Given the description of an element on the screen output the (x, y) to click on. 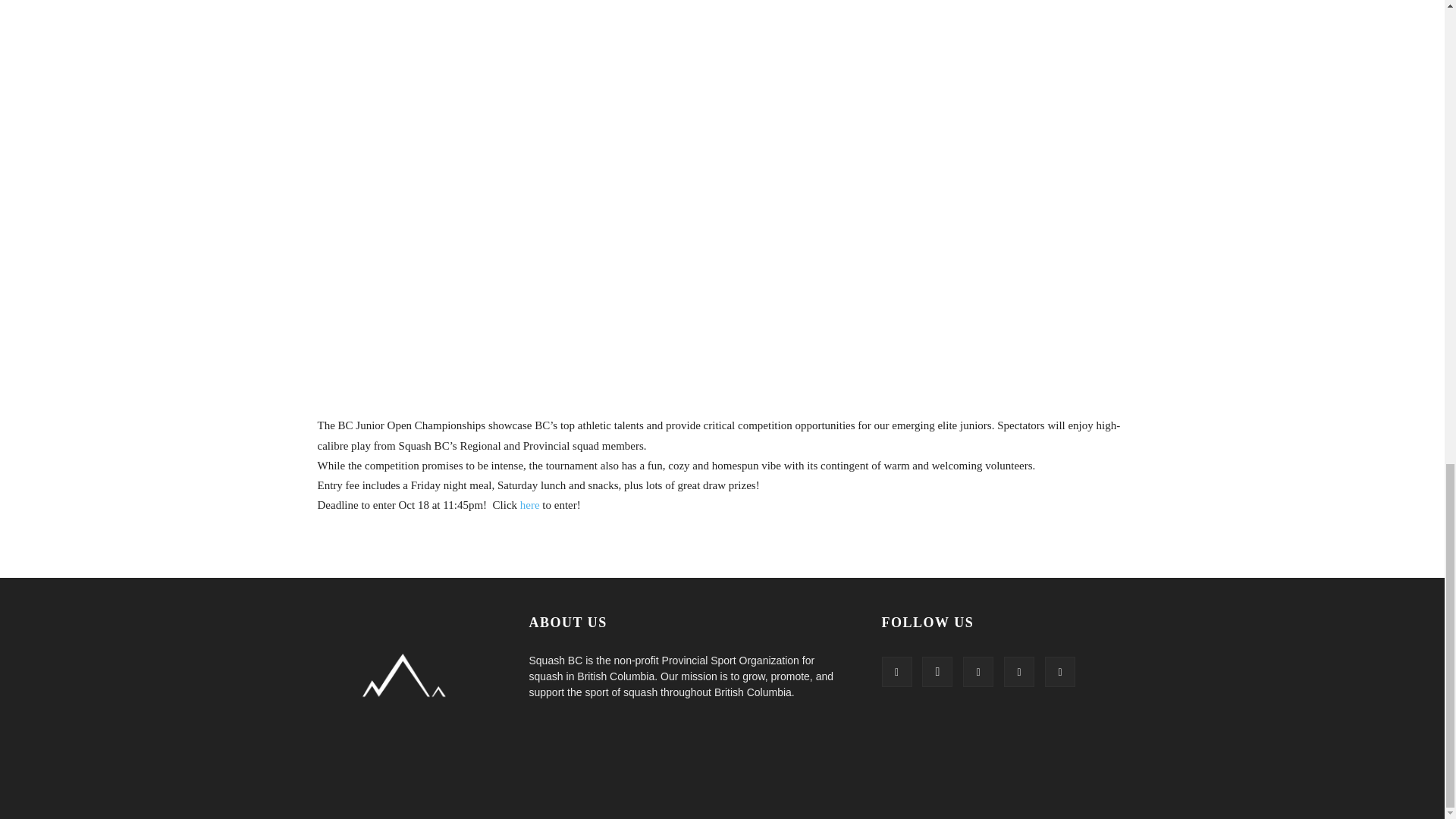
Squash BC - Home (404, 709)
Facebook (895, 671)
